Given the description of an element on the screen output the (x, y) to click on. 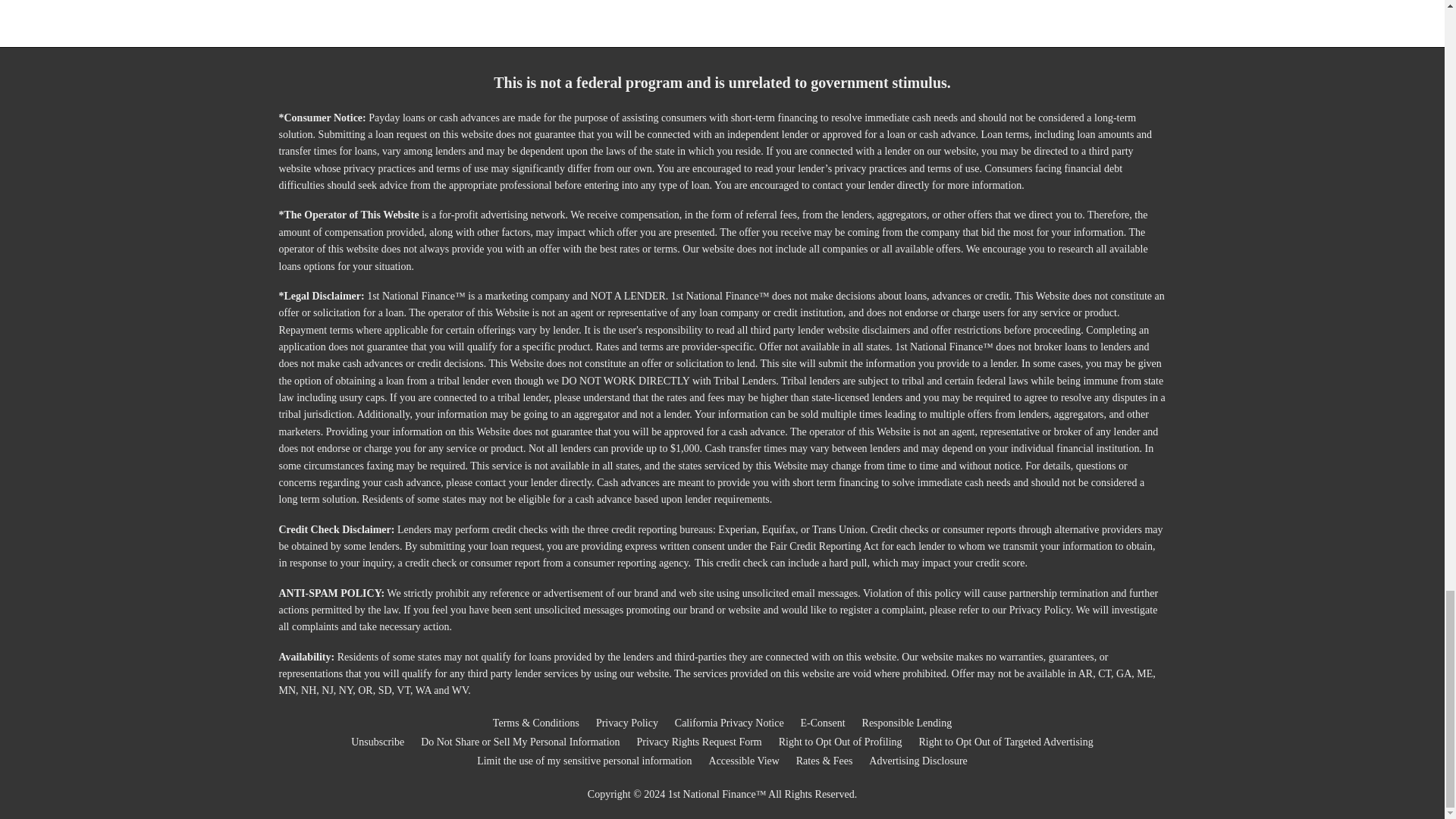
Right to Opt Out of Profiling (840, 742)
Accessible View (743, 760)
Privacy Rights Request Form (698, 742)
Do Not Share or Sell My Personal Information (520, 742)
Unsubscribe (377, 742)
Limit the use of my sensitive personal information (584, 760)
Right to Opt Out of Targeted Advertising (1005, 742)
Advertising Disclosure (917, 760)
E-Consent (822, 723)
Privacy Policy (626, 723)
